Given the description of an element on the screen output the (x, y) to click on. 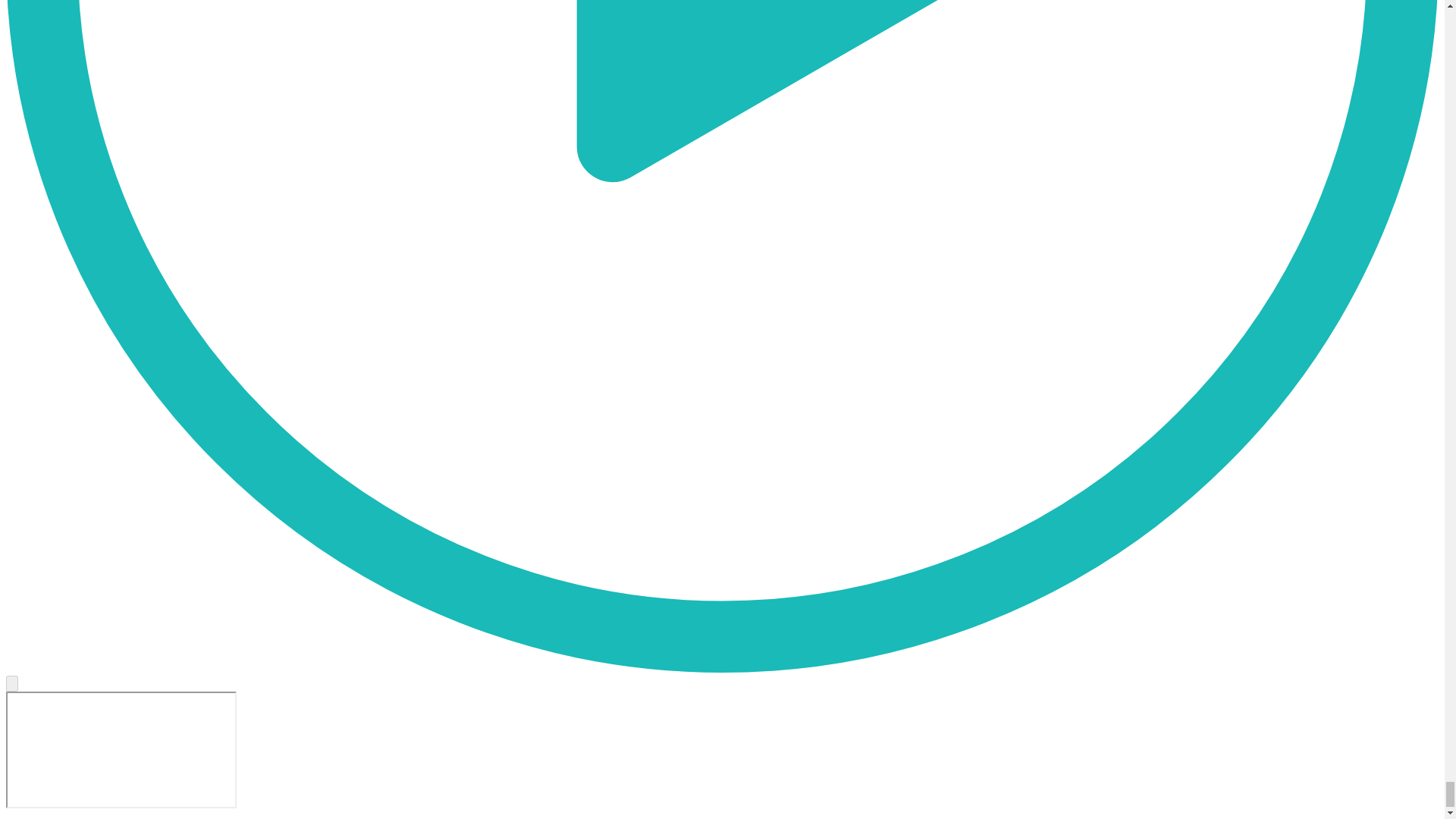
youtube video (120, 749)
